Given the description of an element on the screen output the (x, y) to click on. 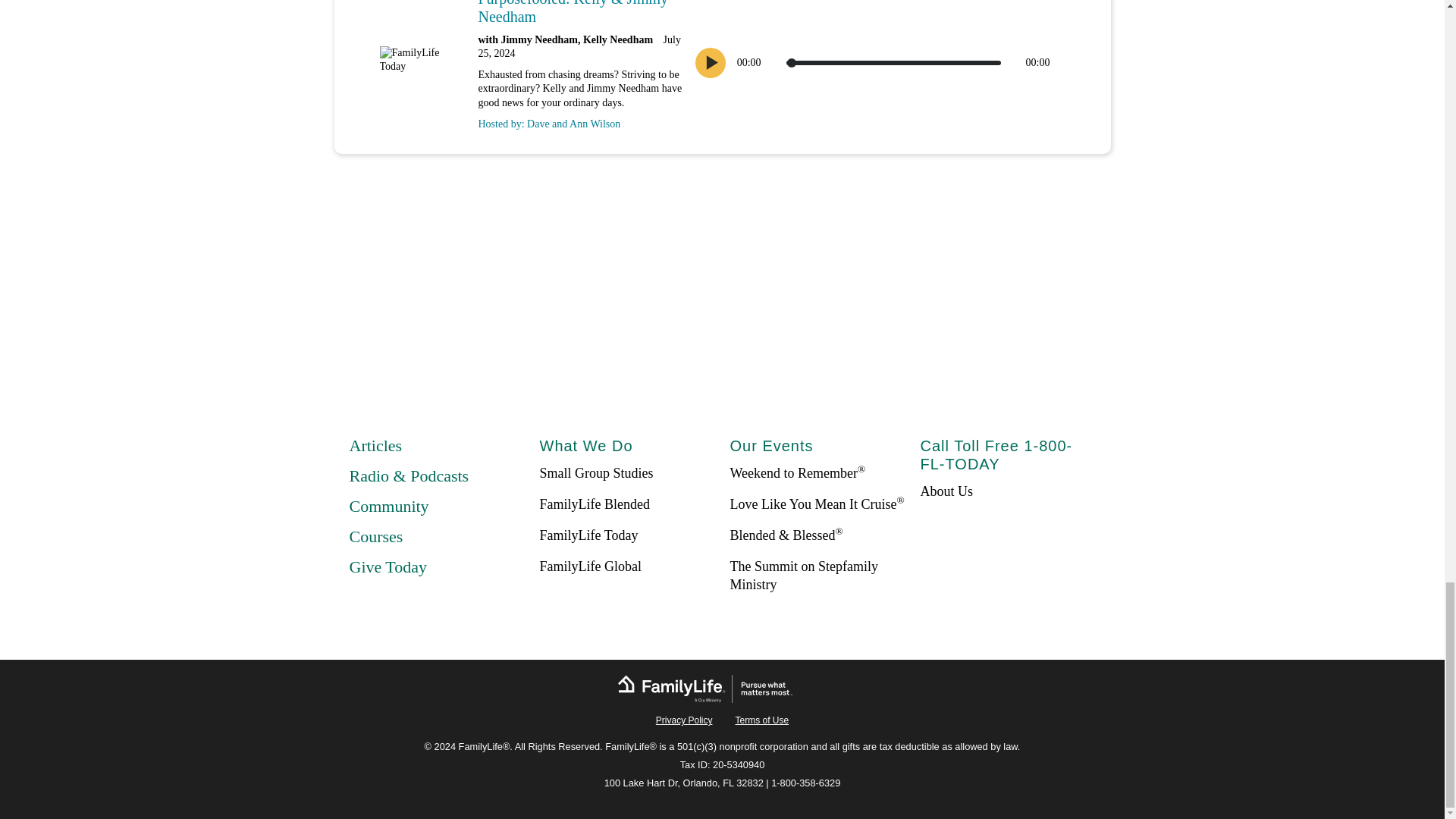
FamilyLife Today (589, 534)
Community (388, 505)
Small Group Studies (596, 473)
FamilyLife Global (591, 566)
Courses (376, 536)
Hosted by: Dave and Ann Wilson (579, 120)
0 (893, 62)
Give Today (387, 566)
FamilyLife Blended (594, 503)
Articles (375, 445)
